Given the description of an element on the screen output the (x, y) to click on. 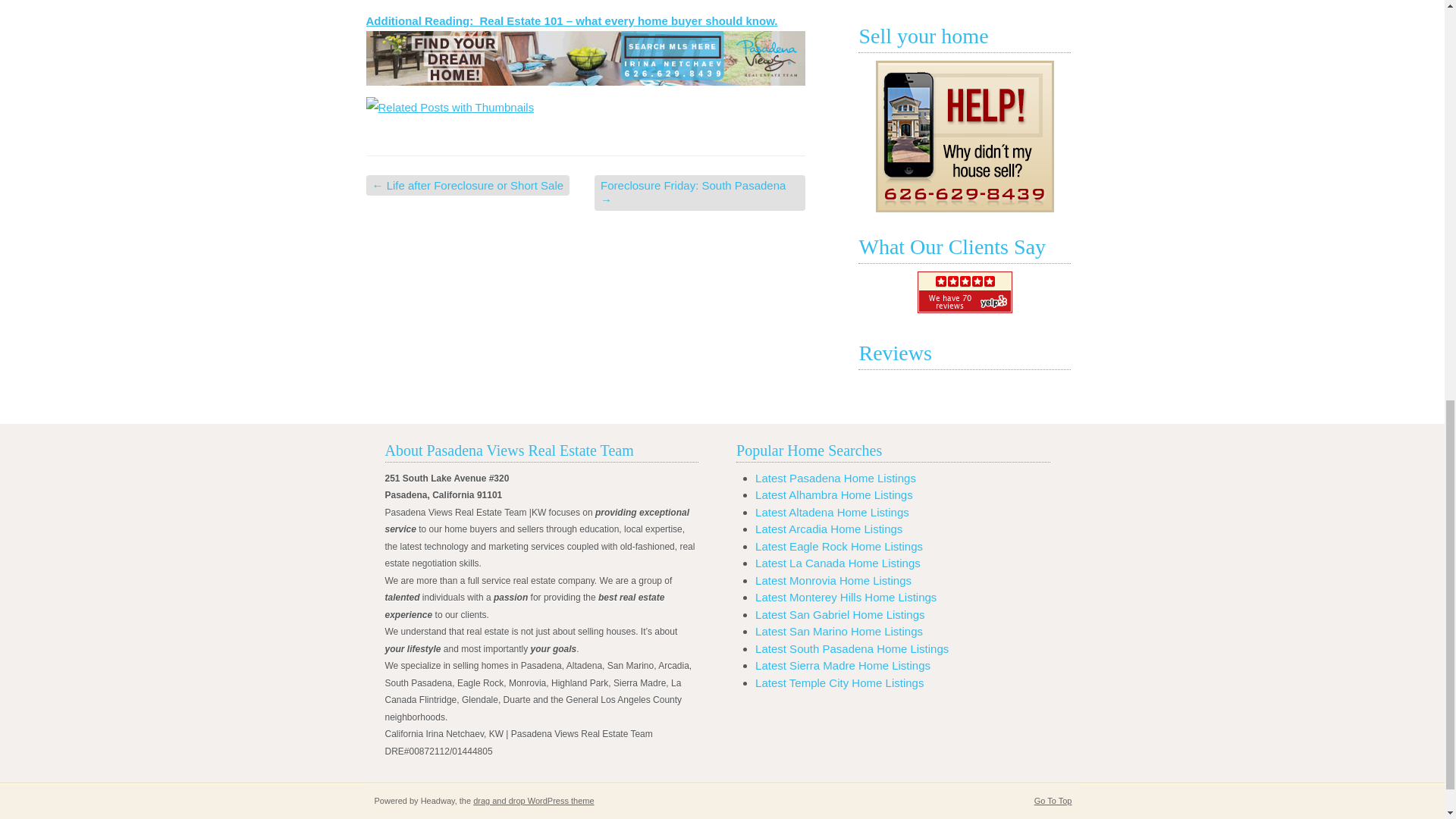
Monrovia Homes for Sale (833, 579)
Pasadena real estate guide (571, 20)
How much is my home worth in Pasadena? (964, 136)
click here to access free mls search for Pasadena homes (585, 58)
La Canada Real Estate MLS Listings (837, 562)
Eagle Rock MLS Access (839, 545)
Altadena Real Estate Listings (831, 511)
Latest Pasadena MLS access (835, 477)
Alhambra Real Estate MLS Listings (833, 494)
